Given the description of an element on the screen output the (x, y) to click on. 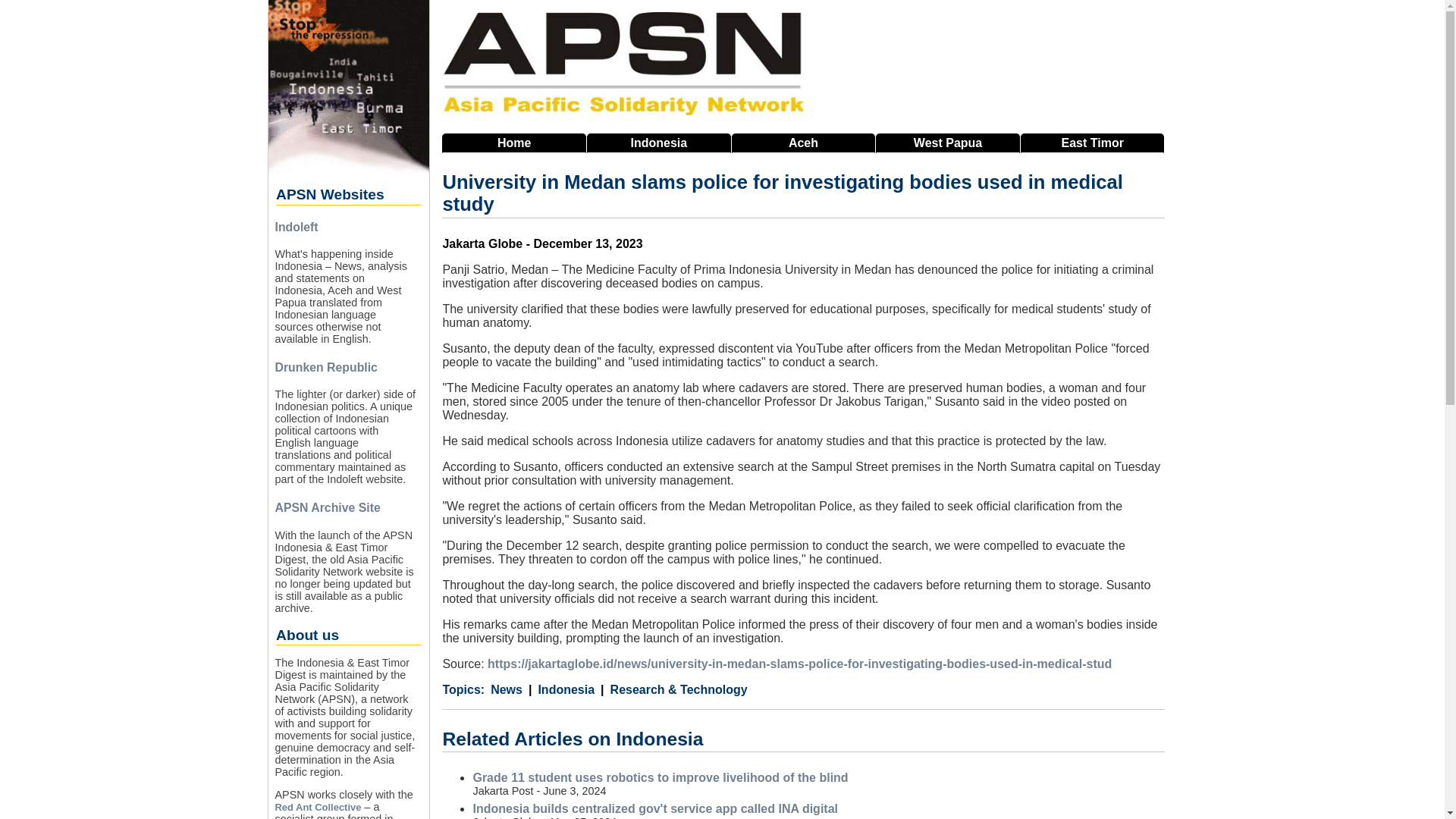
West Papua (948, 143)
Aceh (804, 143)
Indonesia (658, 143)
East Timor (1092, 143)
Indonesia (561, 689)
Indoleft (296, 226)
News (506, 689)
Home (514, 143)
Drunken Republic (326, 367)
